Given the description of an element on the screen output the (x, y) to click on. 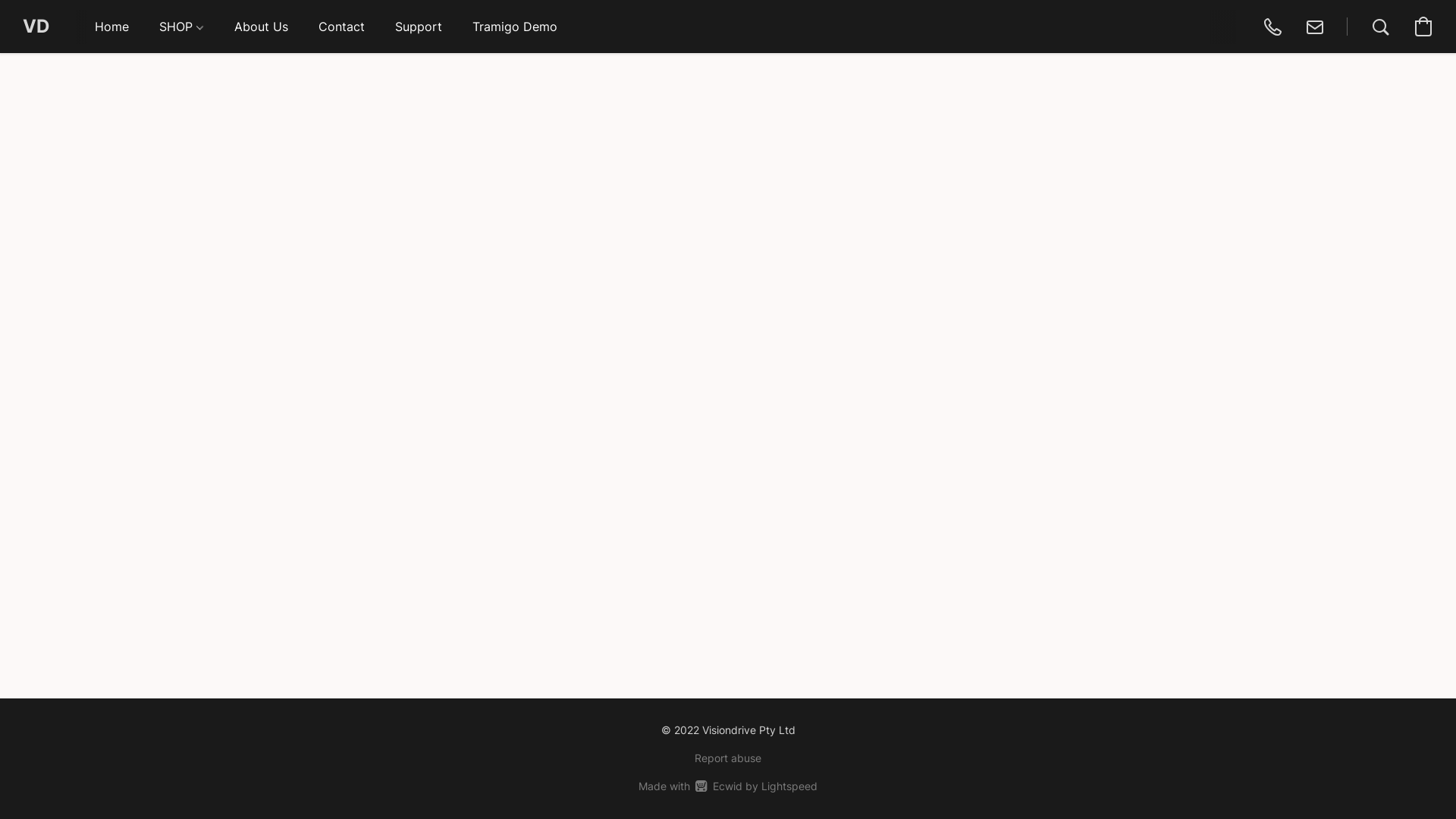
SHOP Element type: text (181, 26)
sales@visiondrive.net.au Element type: hover (1314, 26)
Report abuse Element type: text (727, 758)
Tramigo Demo Element type: text (514, 26)
Support Element type: text (418, 26)
Made with
Ecwid by Lightspeed Element type: text (727, 786)
VD Element type: text (35, 26)
0419225722 Element type: hover (1272, 26)
Go to your shopping cart Element type: hover (1423, 26)
About Us Element type: text (261, 26)
Search the website Element type: hover (1380, 26)
Home Element type: text (111, 26)
Contact Element type: text (341, 26)
